Given the description of an element on the screen output the (x, y) to click on. 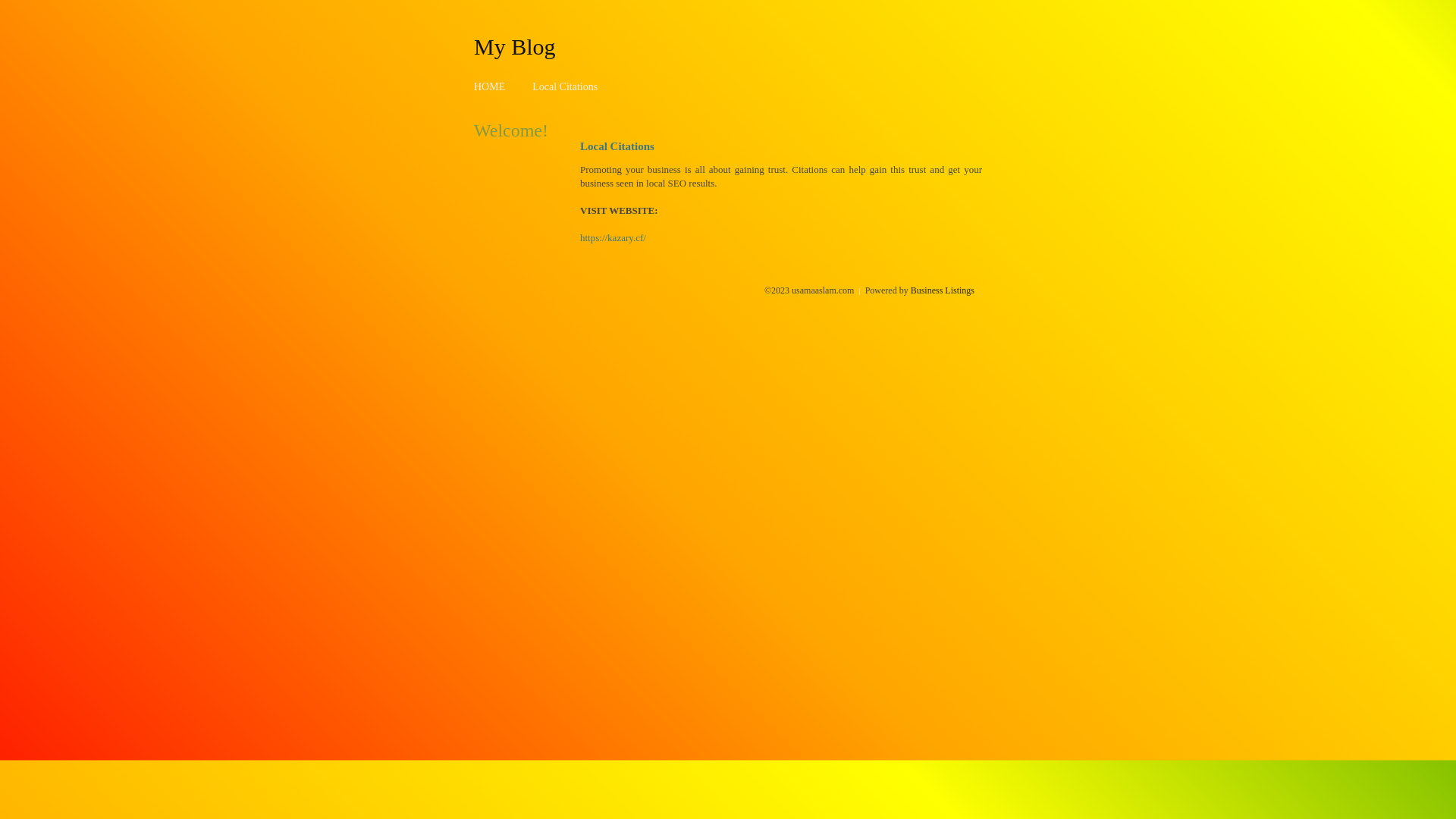
HOME Element type: text (489, 86)
My Blog Element type: text (514, 46)
https://kazary.cf/ Element type: text (613, 237)
Local Citations Element type: text (564, 86)
Business Listings Element type: text (942, 290)
